Given the description of an element on the screen output the (x, y) to click on. 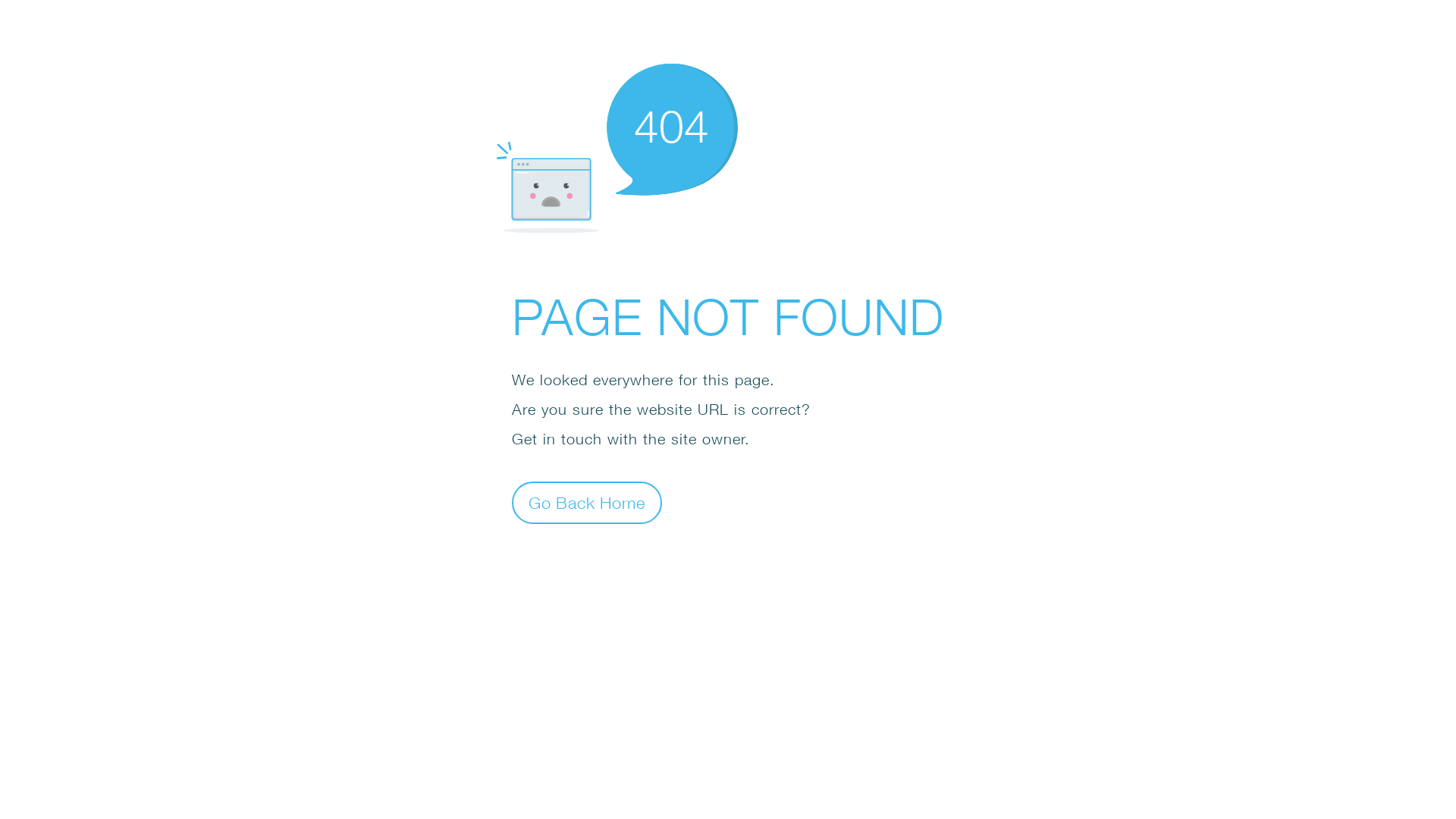
Go Back Home Element type: text (586, 502)
